Given the description of an element on the screen output the (x, y) to click on. 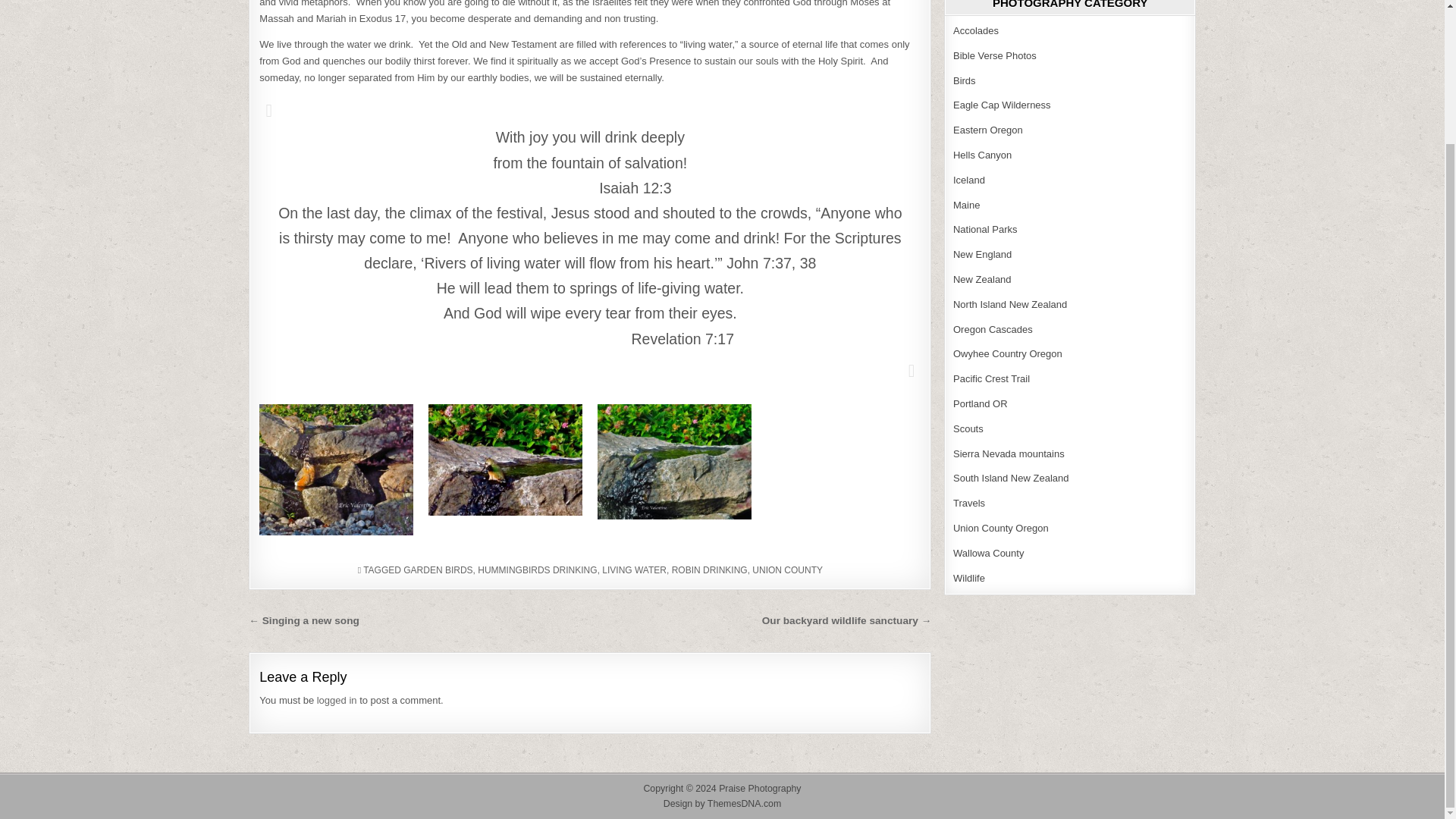
Accolades (975, 30)
UNION COUNTY (787, 570)
LIVING WATER (634, 570)
logged in (336, 699)
GARDEN BIRDS (437, 570)
Birds (964, 80)
Hells Canyon (982, 154)
ROBIN DRINKING (709, 570)
Iceland (969, 179)
HUMMINGBIRDS DRINKING (536, 570)
Eastern Oregon (988, 129)
Bible Verse Photos (994, 55)
Eagle Cap Wilderness (1002, 104)
